Given the description of an element on the screen output the (x, y) to click on. 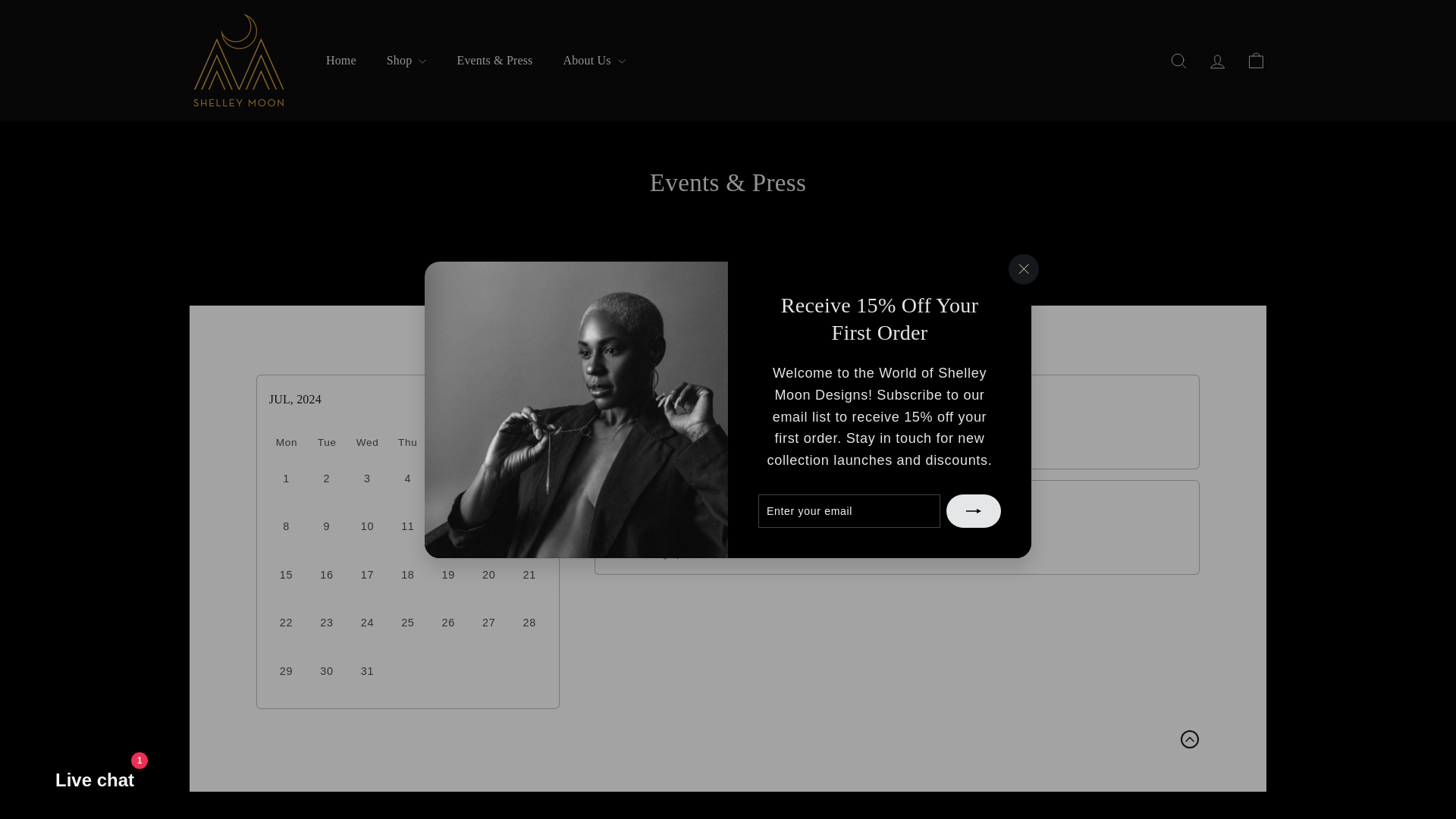
Previous Month (508, 399)
palmer center (832, 447)
Scroll up (1189, 739)
